Given the description of an element on the screen output the (x, y) to click on. 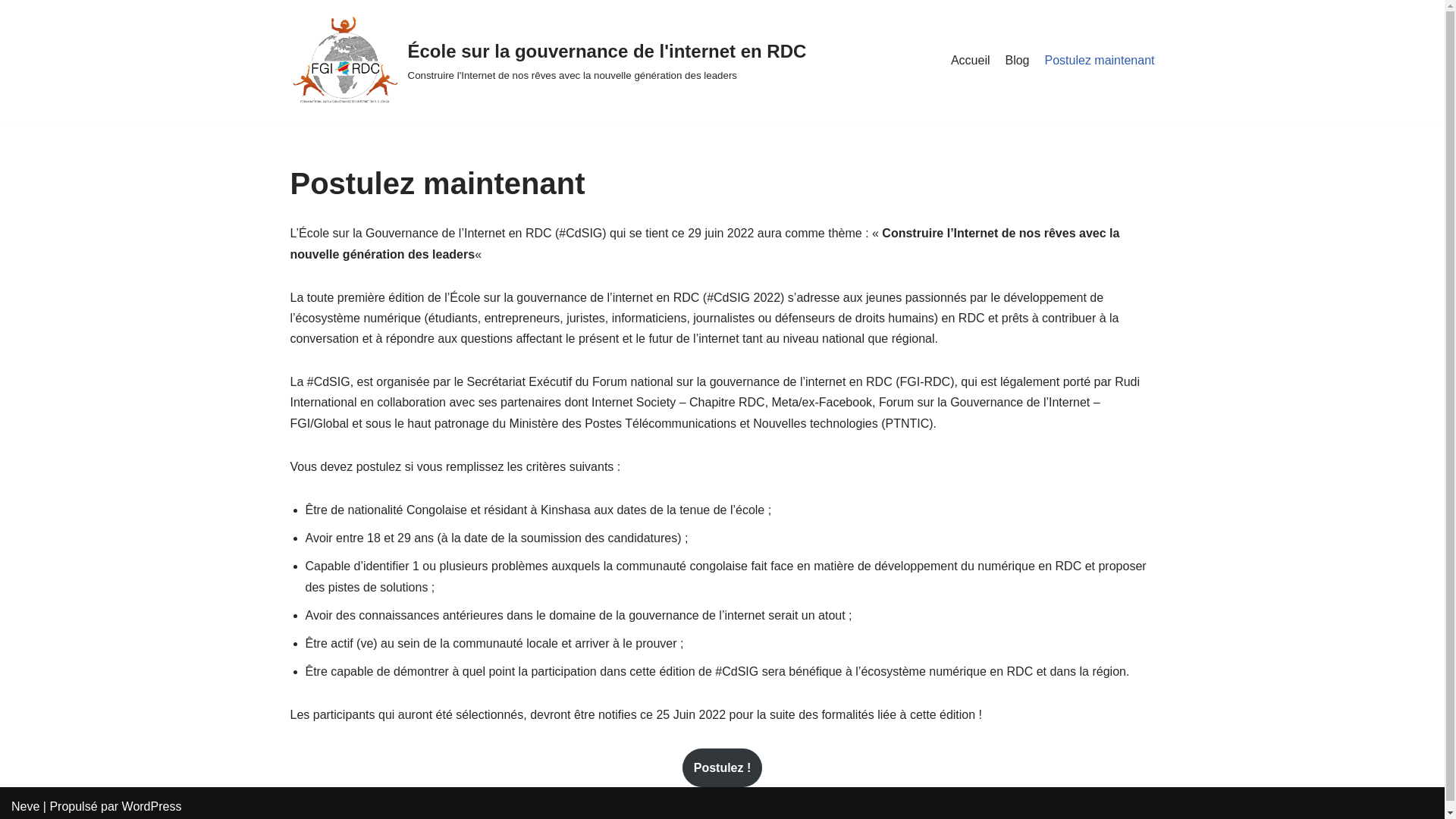
Neve Element type: text (25, 806)
Aller au contenu Element type: text (11, 31)
Accueil Element type: text (970, 60)
WordPress Element type: text (152, 806)
Postulez ! Element type: text (722, 767)
Postulez maintenant Element type: text (1099, 60)
Blog Element type: text (1016, 60)
